Given the description of an element on the screen output the (x, y) to click on. 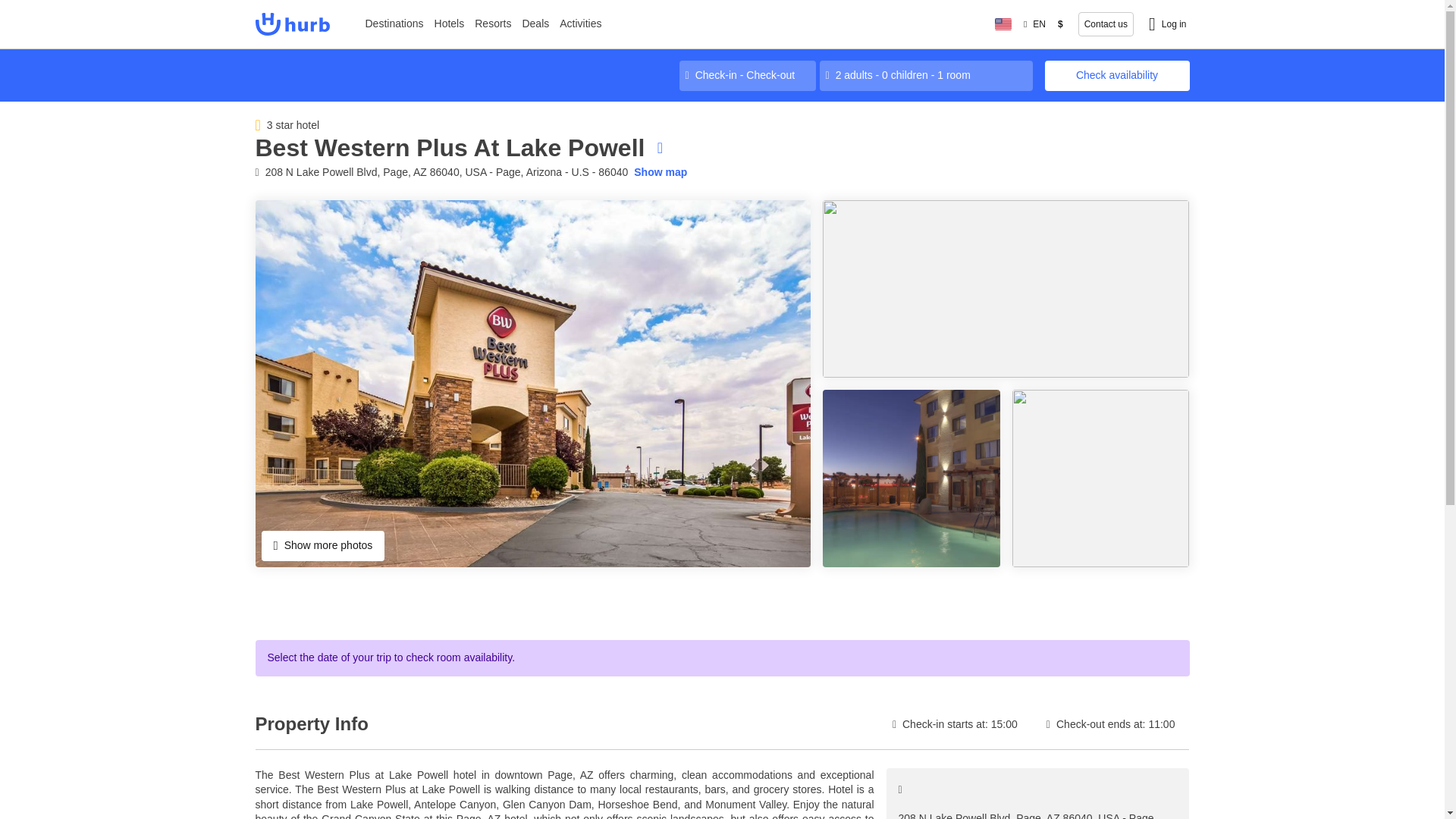
Check availability (1117, 75)
Deals (535, 23)
Contact us (1106, 24)
Log in (1167, 24)
Hurb (291, 24)
Show more photos (322, 545)
Resorts (492, 23)
Deals (535, 23)
Destinations (393, 23)
Activities (580, 23)
